Given the description of an element on the screen output the (x, y) to click on. 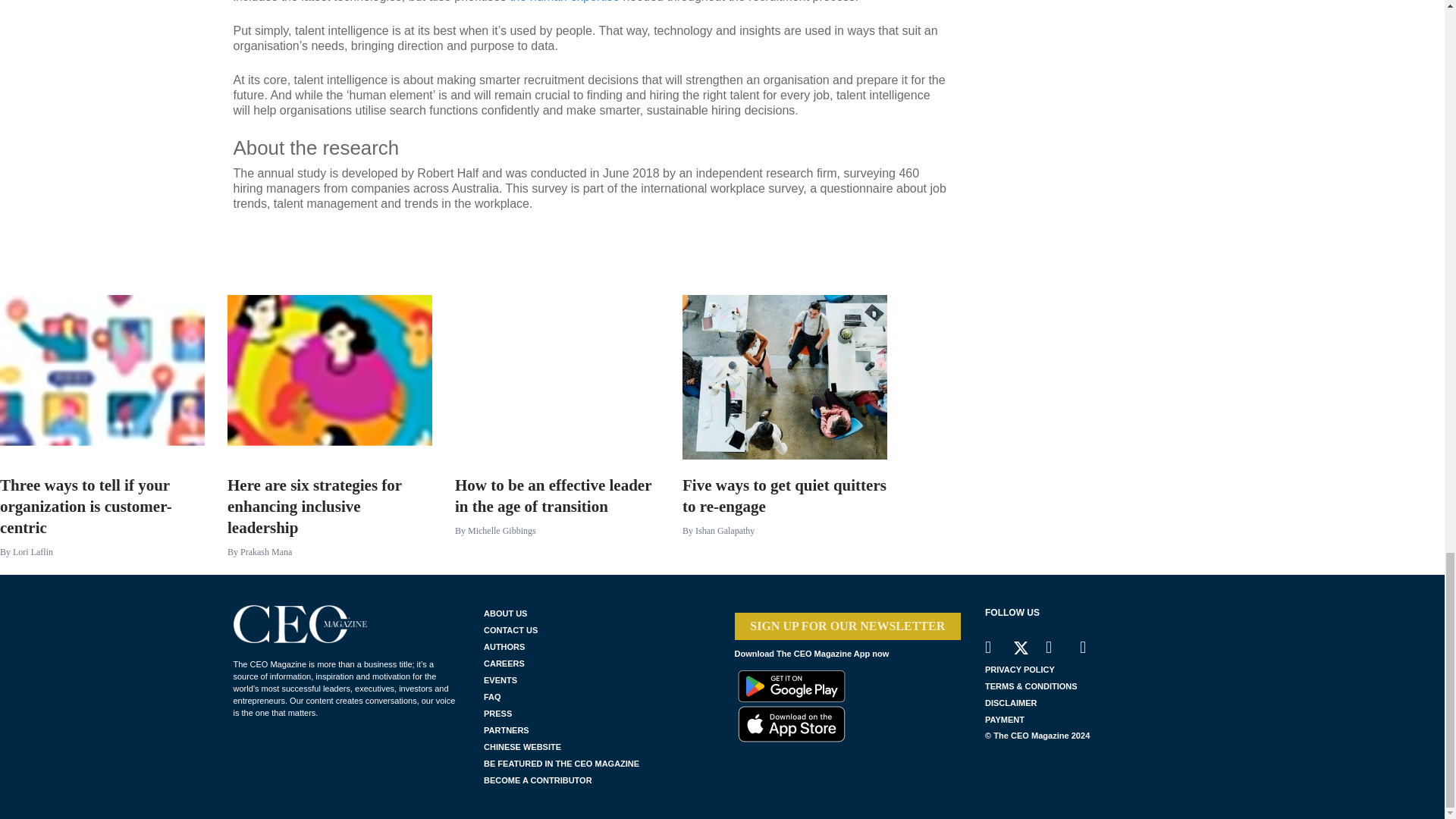
Five ways to get quiet quitters to re-engage (784, 375)
How to be an effective leader in the age of transition (556, 548)
Three ways to tell if your organization is customer-centric (102, 558)
Here are six strategies for enhancing inclusive leadership (329, 375)
Three ways to tell if your organization is customer-centric (102, 558)
Three ways to tell if your organization is customer-centric (102, 375)
the human expertise (564, 1)
Five ways to get quiet quitters to re-engage (784, 548)
How to be an effective leader in the age of transition (556, 375)
Here are six strategies for enhancing inclusive leadership (329, 558)
